Given the description of an element on the screen output the (x, y) to click on. 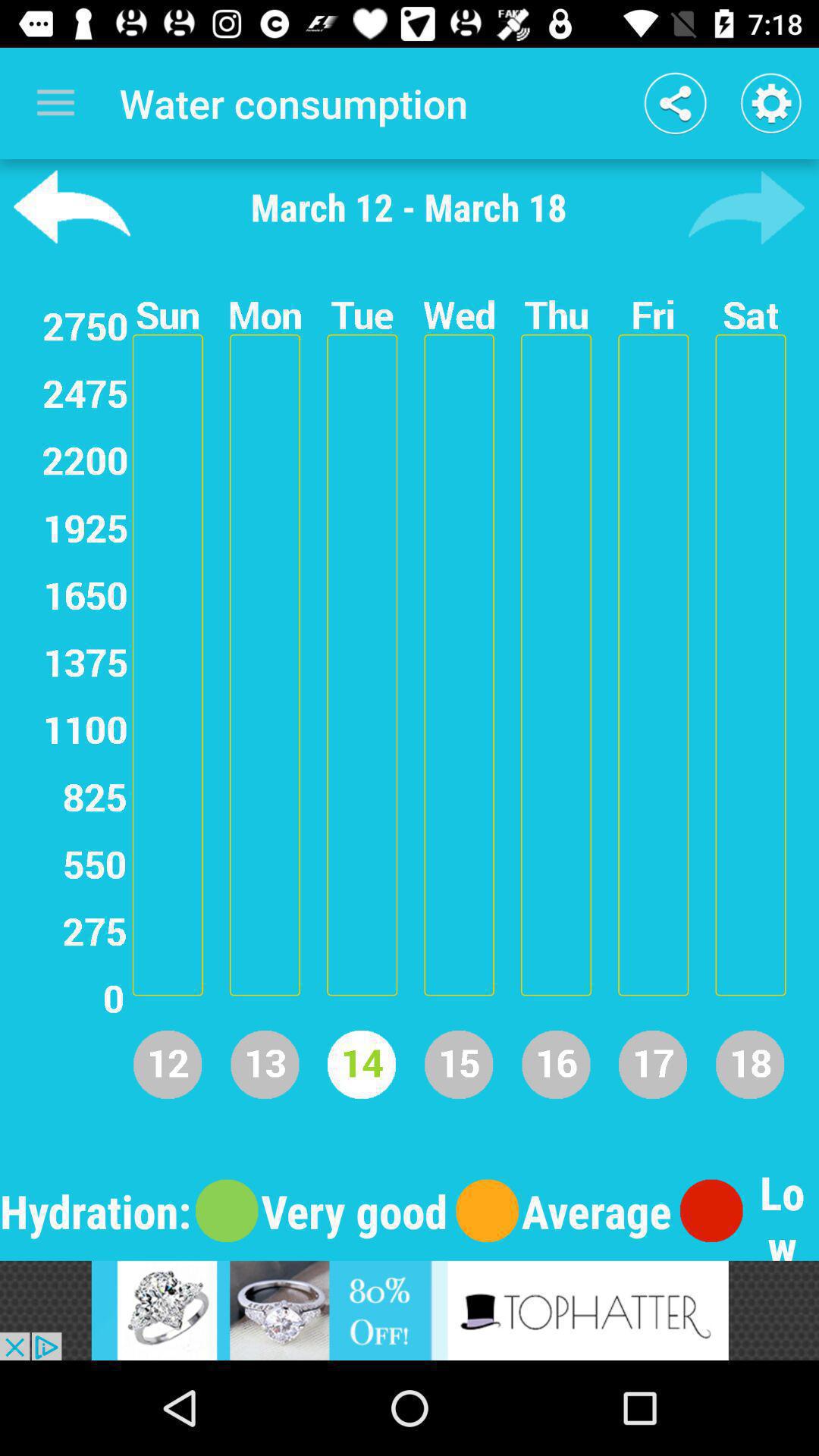
go forward (746, 207)
